Given the description of an element on the screen output the (x, y) to click on. 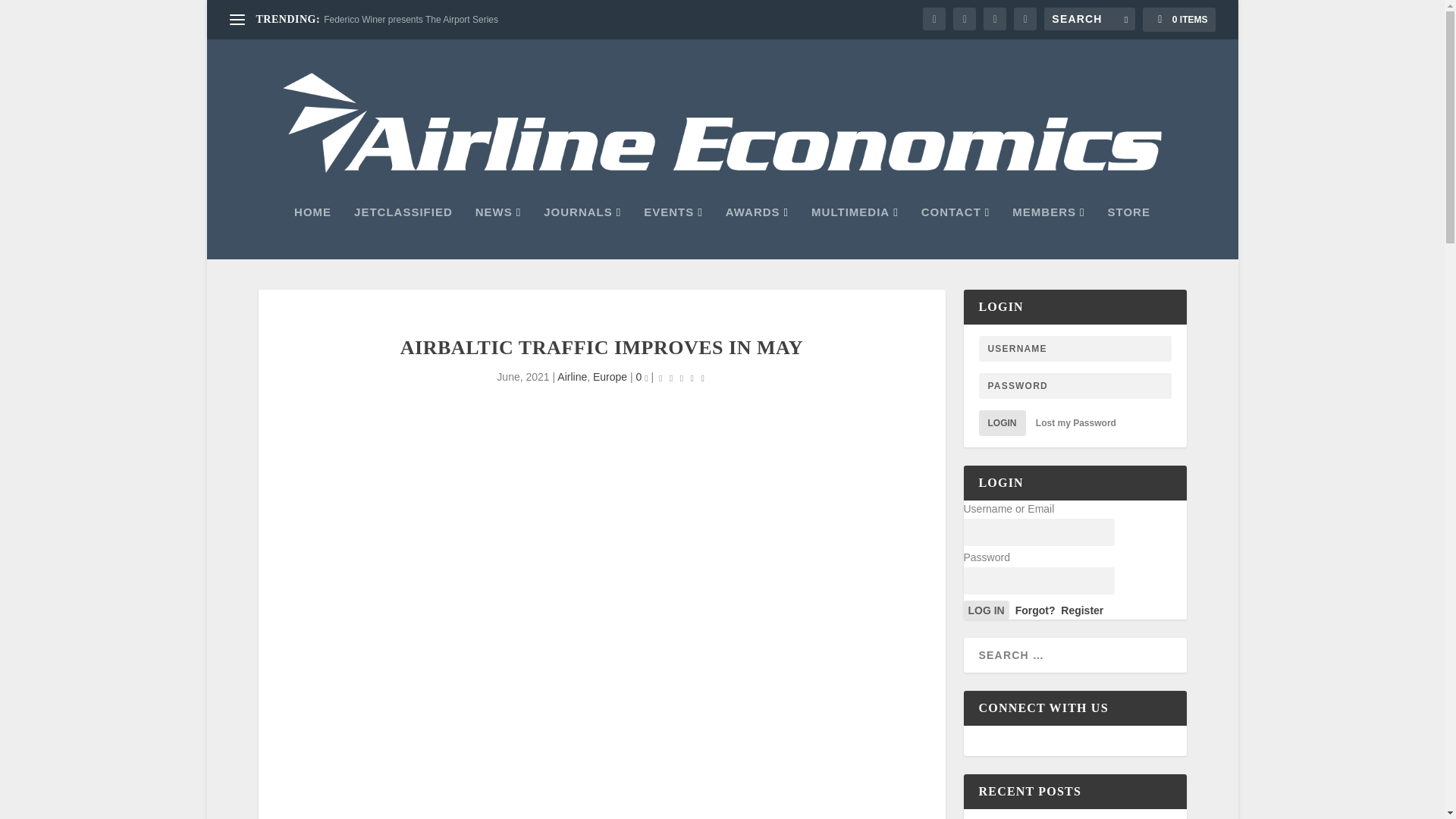
log in (985, 609)
JETCLASSIFIED (402, 232)
Rating: 0.00 (681, 377)
Federico Winer presents The Airport Series (410, 19)
JOURNALS (582, 232)
